Given the description of an element on the screen output the (x, y) to click on. 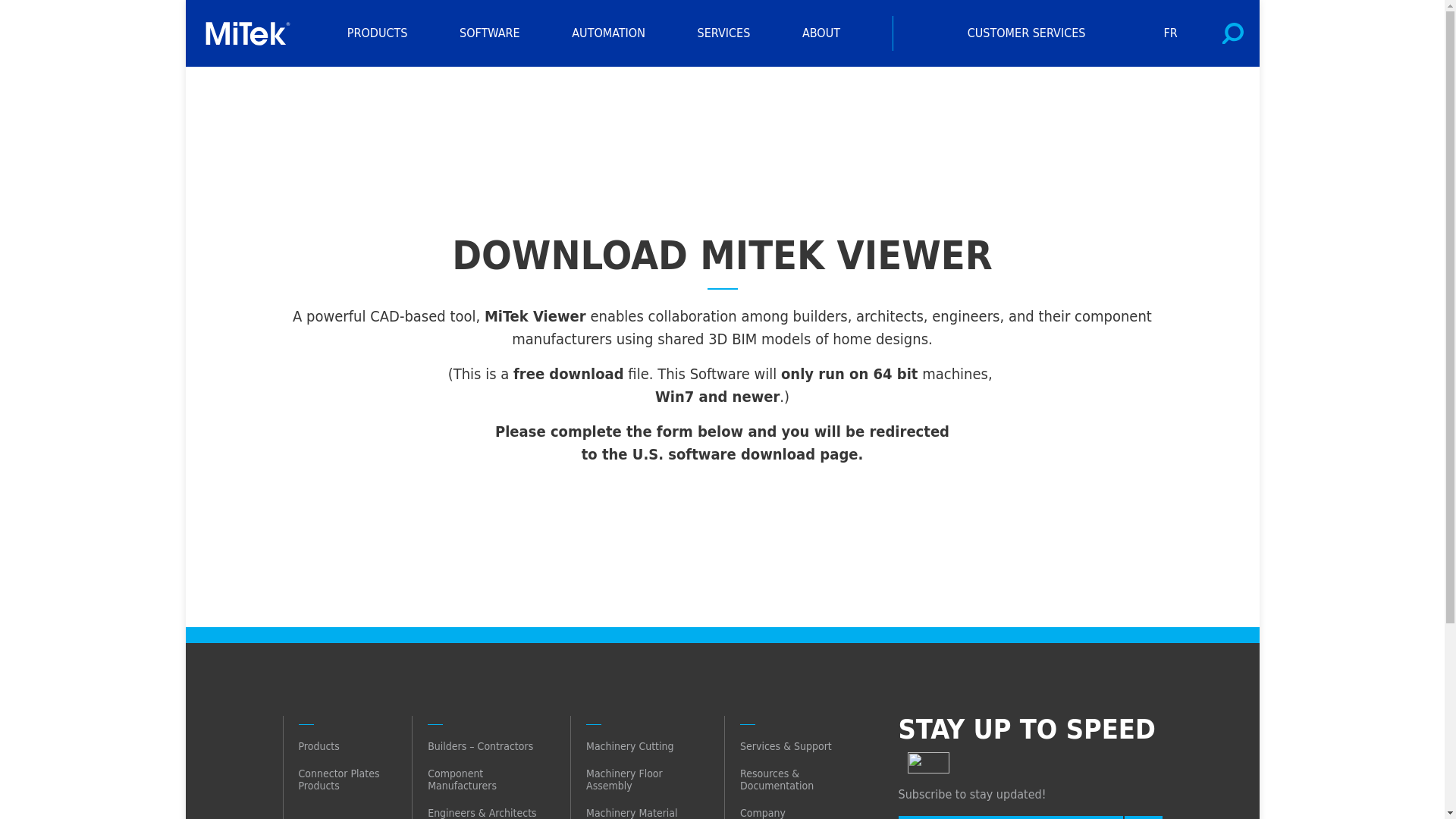
Click here to return to the homepage. (252, 33)
PRODUCTS (377, 33)
SOFTWARE (489, 33)
